Given the description of an element on the screen output the (x, y) to click on. 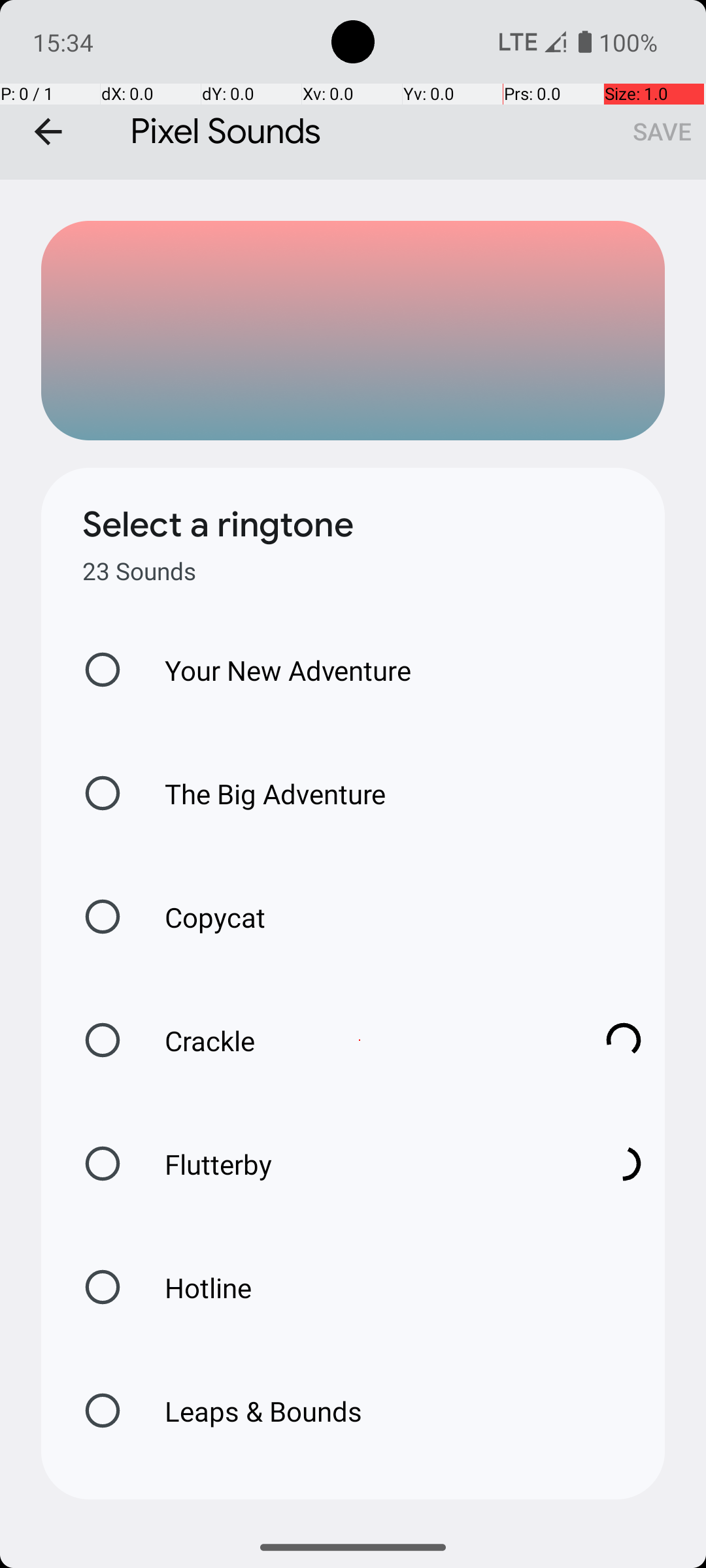
Pixel Sounds Element type: android.widget.FrameLayout (353, 89)
Select a ringtone Element type: android.widget.TextView (217, 524)
23 Sounds Element type: android.widget.TextView (139, 570)
Your New Adventure Element type: android.widget.TextView (274, 669)
The Big Adventure Element type: android.widget.TextView (261, 793)
Copycat Element type: android.widget.TextView (201, 916)
Crackle Element type: android.widget.TextView (359, 1040)
Download in progress Element type: android.widget.ImageView (623, 1039)
Flutterby Element type: android.widget.TextView (359, 1163)
Hotline Element type: android.widget.TextView (194, 1287)
Leaps & Bounds Element type: android.widget.TextView (249, 1410)
